Given the description of an element on the screen output the (x, y) to click on. 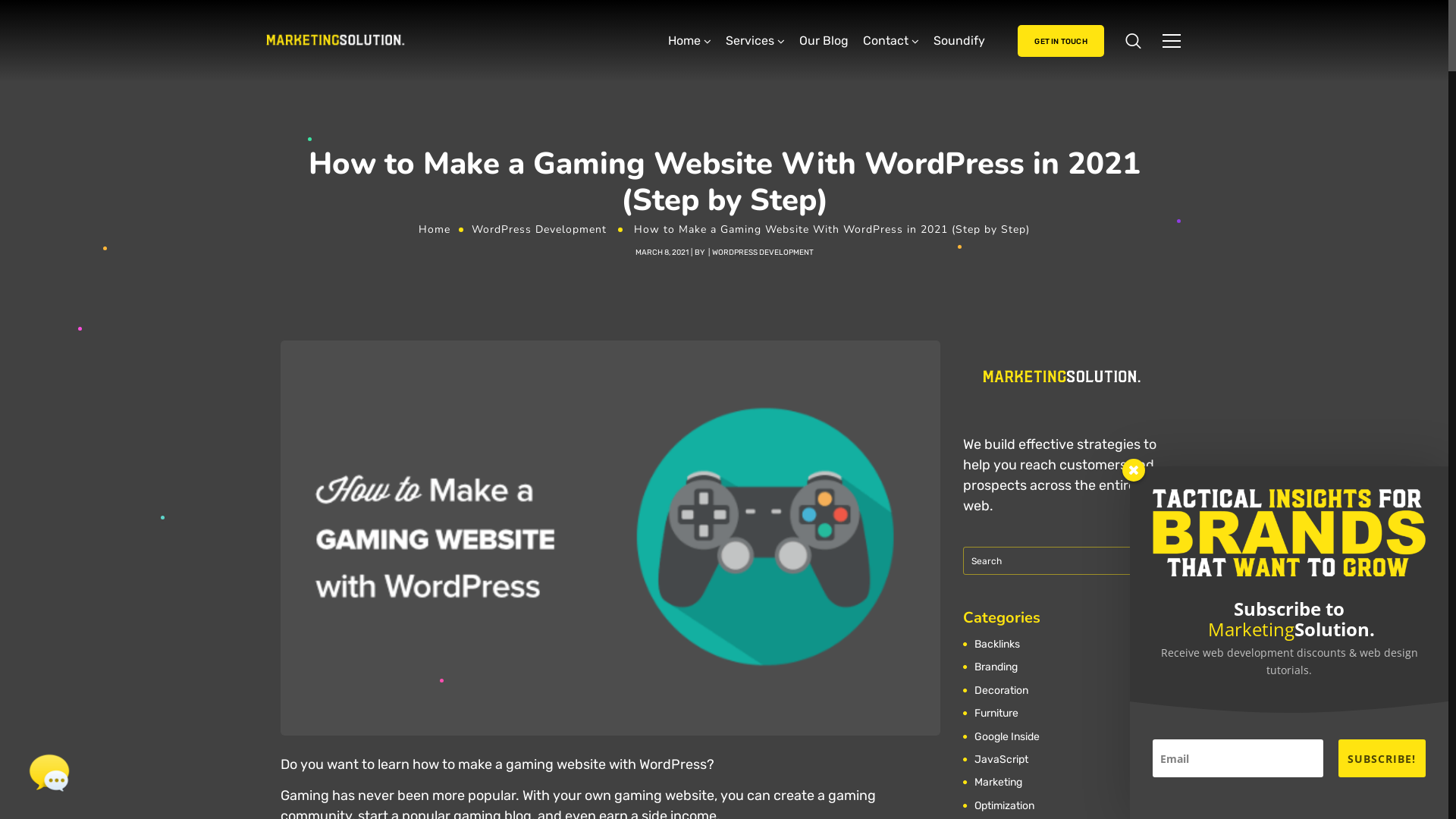
Branding Element type: text (997, 666)
WordPress Development Element type: text (538, 228)
Marketing Element type: text (1000, 782)
WORDPRESS DEVELOPMENT Element type: text (761, 251)
GET IN TOUCH Element type: text (1060, 40)
JavaScript Element type: text (1003, 759)
Marketing Solution Element type: hover (338, 40)
Home Element type: text (689, 40)
Home Element type: text (434, 228)
Our Blog Element type: text (823, 40)
SUBSCRIBE! Element type: text (1381, 758)
Backlinks Element type: text (998, 644)
Services Element type: text (754, 40)
Furniture Element type: text (998, 713)
Optimization Element type: text (1006, 805)
tactical-insights-for-brands-grow Element type: hover (1289, 532)
Decoration Element type: text (1003, 690)
Search Element type: text (1124, 81)
Google Inside Element type: text (1008, 736)
Search Element type: text (1159, 558)
Soundify Element type: text (959, 40)
Contact Element type: text (890, 40)
